Given the description of an element on the screen output the (x, y) to click on. 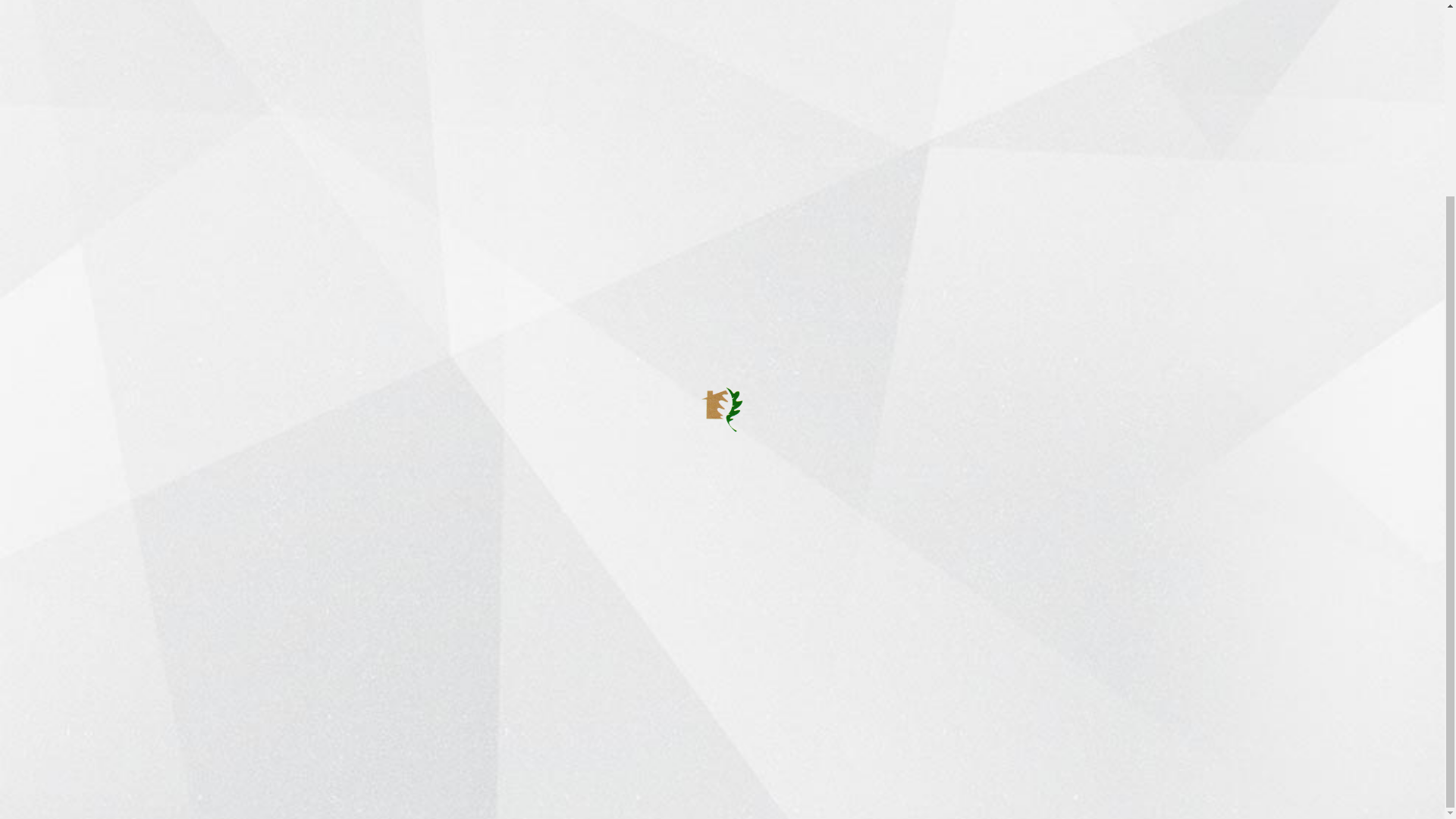
Publications (634, 589)
Our Services (636, 563)
Our Projects (635, 537)
theigc.org (423, 381)
Visitors (622, 615)
This site is developed by Debug BD Ltd. (431, 785)
Contact Us (1190, 785)
